Given the description of an element on the screen output the (x, y) to click on. 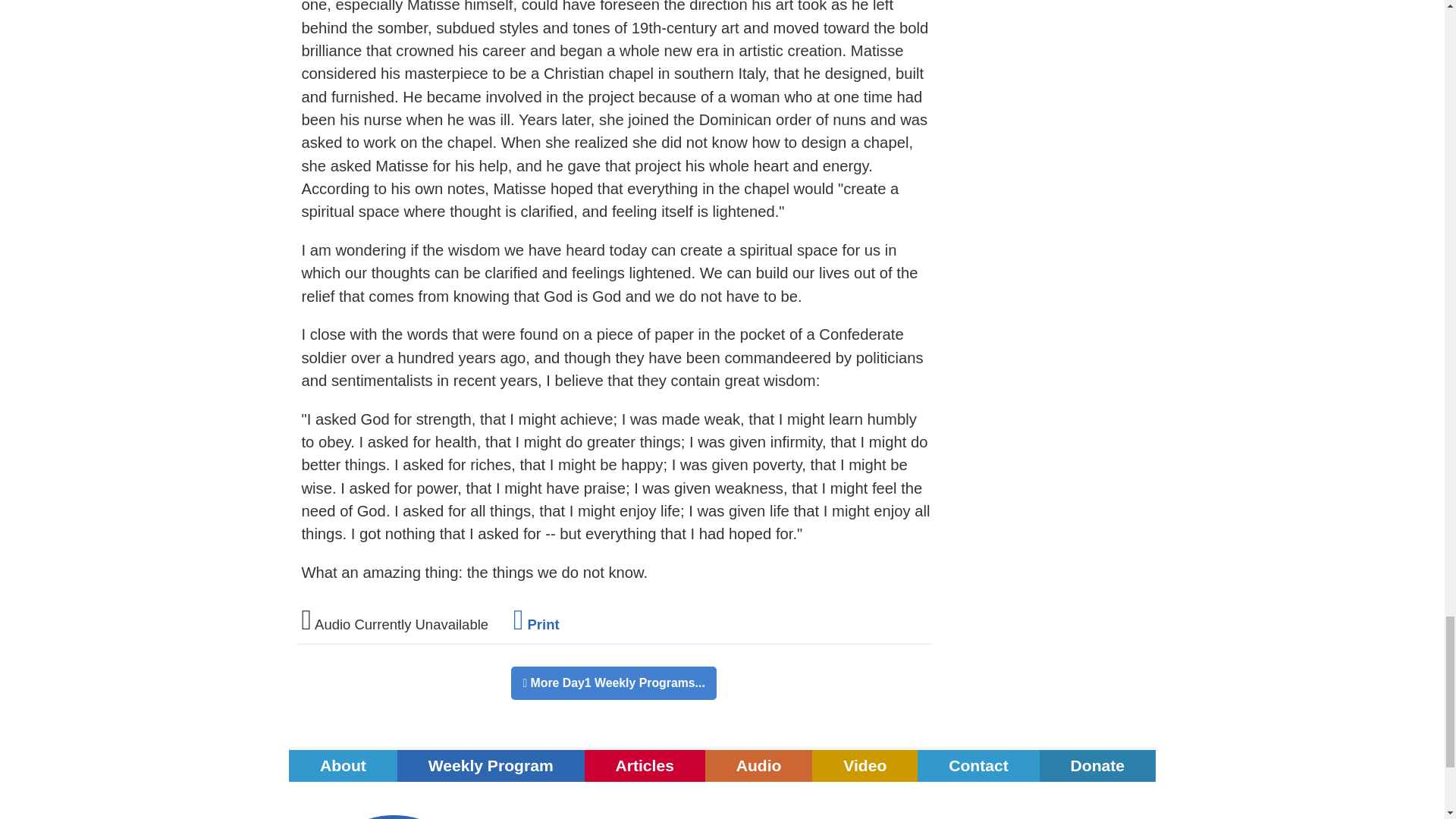
Print (536, 624)
More Day1 Weekly Programs... (613, 683)
